Given the description of an element on the screen output the (x, y) to click on. 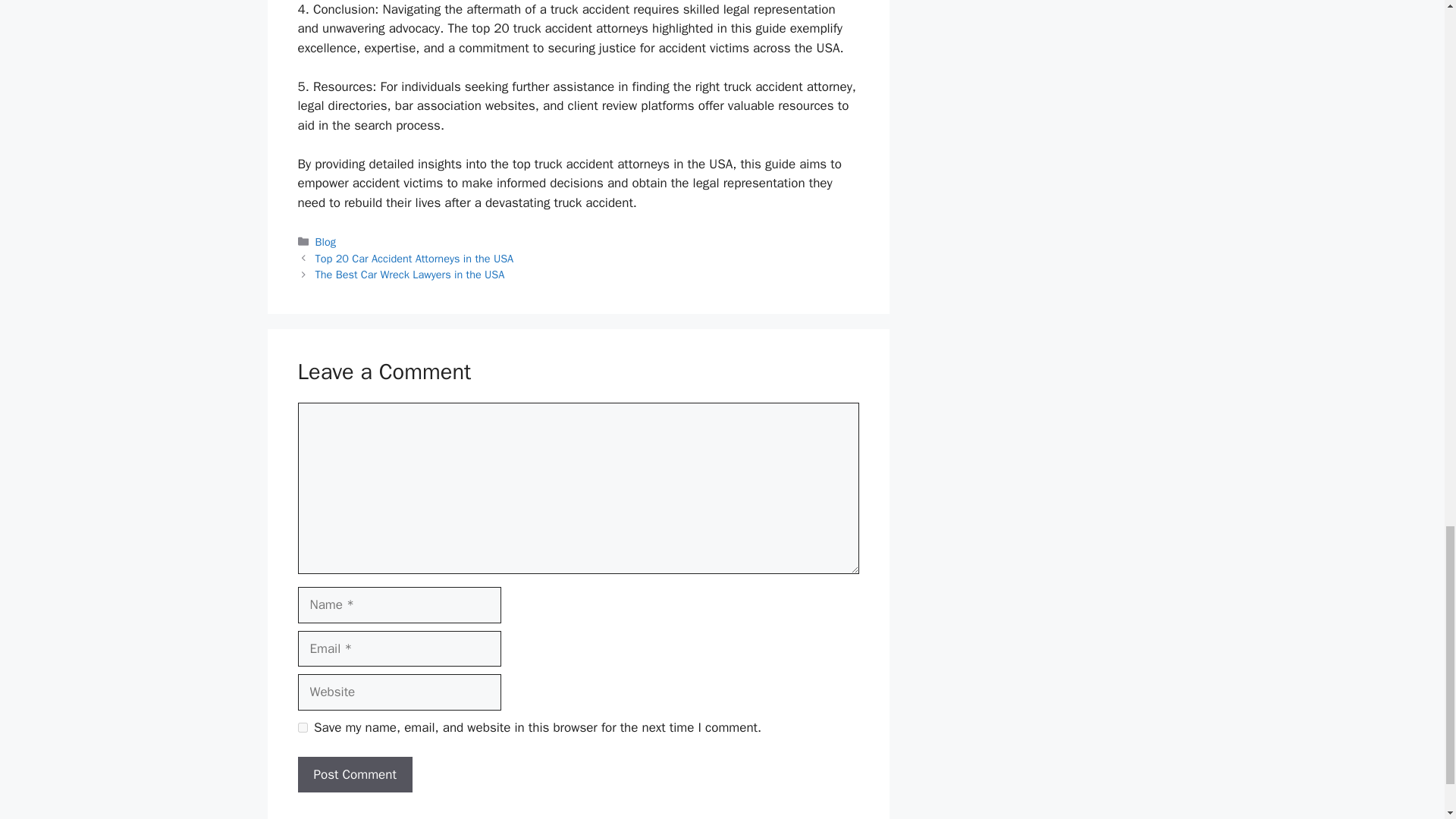
yes (302, 727)
The Best Car Wreck Lawyers in the USA (410, 274)
Blog (325, 241)
Post Comment (354, 774)
Post Comment (354, 774)
Top 20 Car Accident Attorneys in the USA (414, 258)
